Given the description of an element on the screen output the (x, y) to click on. 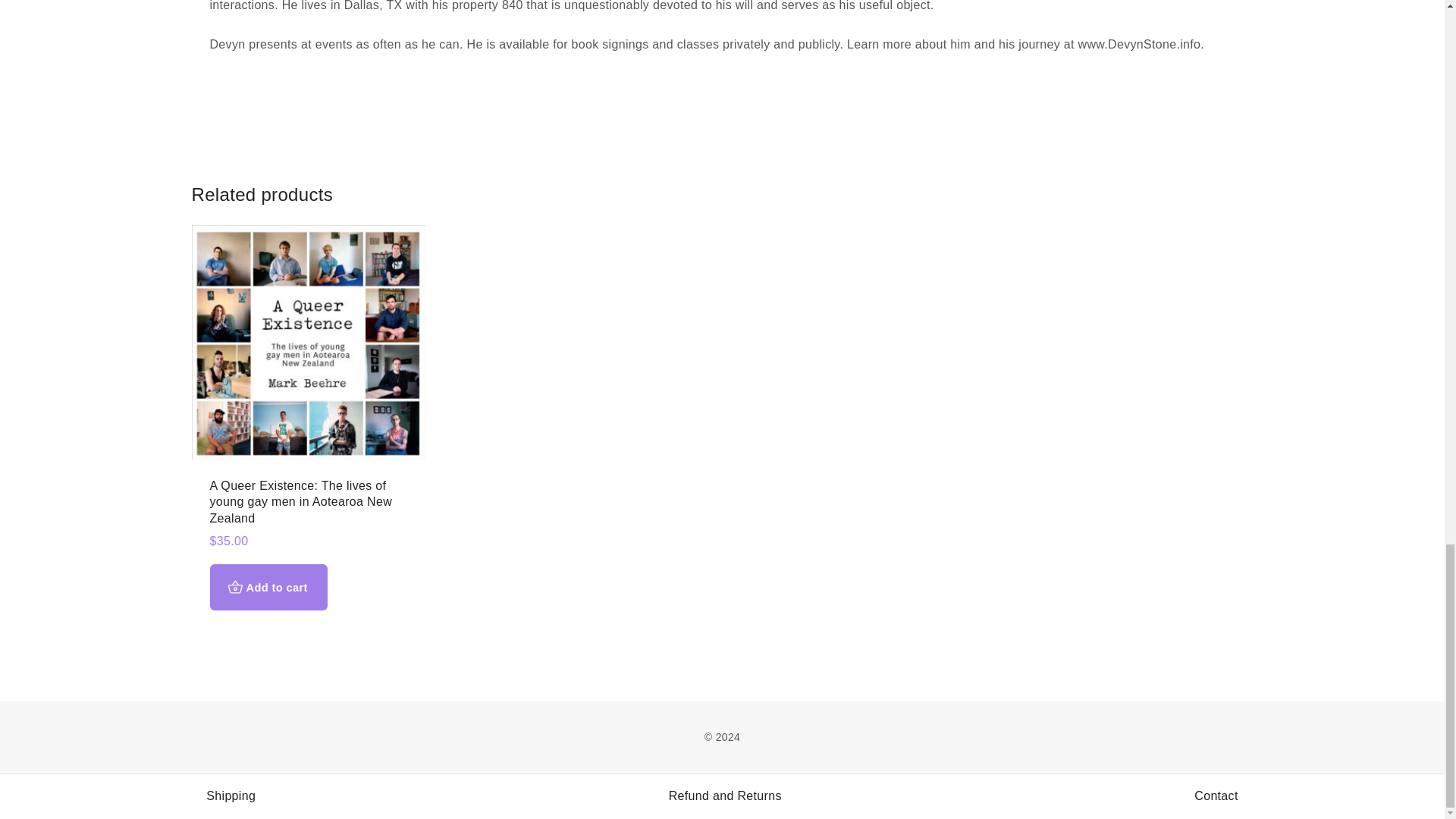
Add to cart (267, 587)
